Given the description of an element on the screen output the (x, y) to click on. 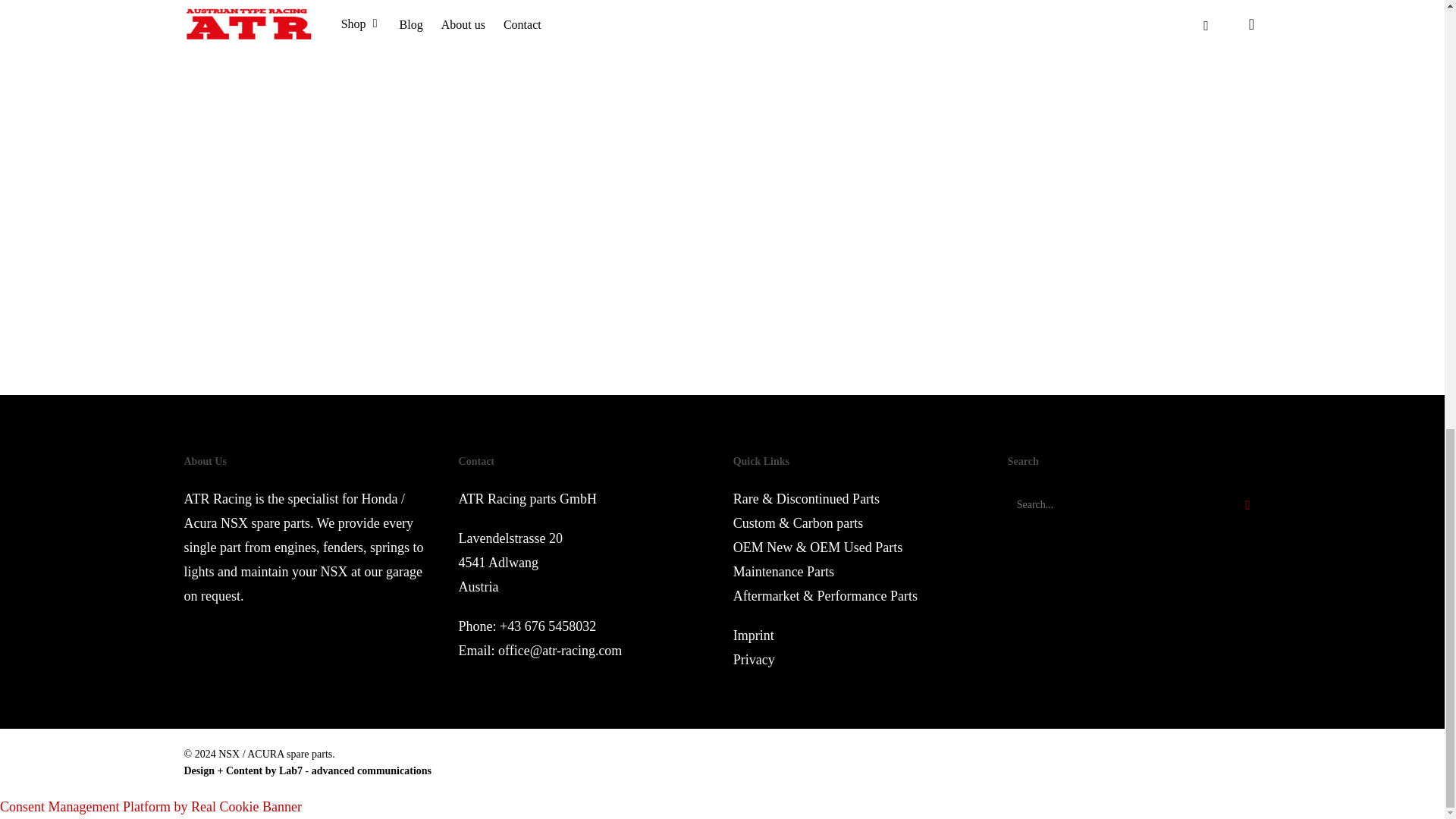
Imprint (753, 635)
Maintenance Parts (783, 571)
Search for: (1133, 504)
Privacy (753, 659)
